Given the description of an element on the screen output the (x, y) to click on. 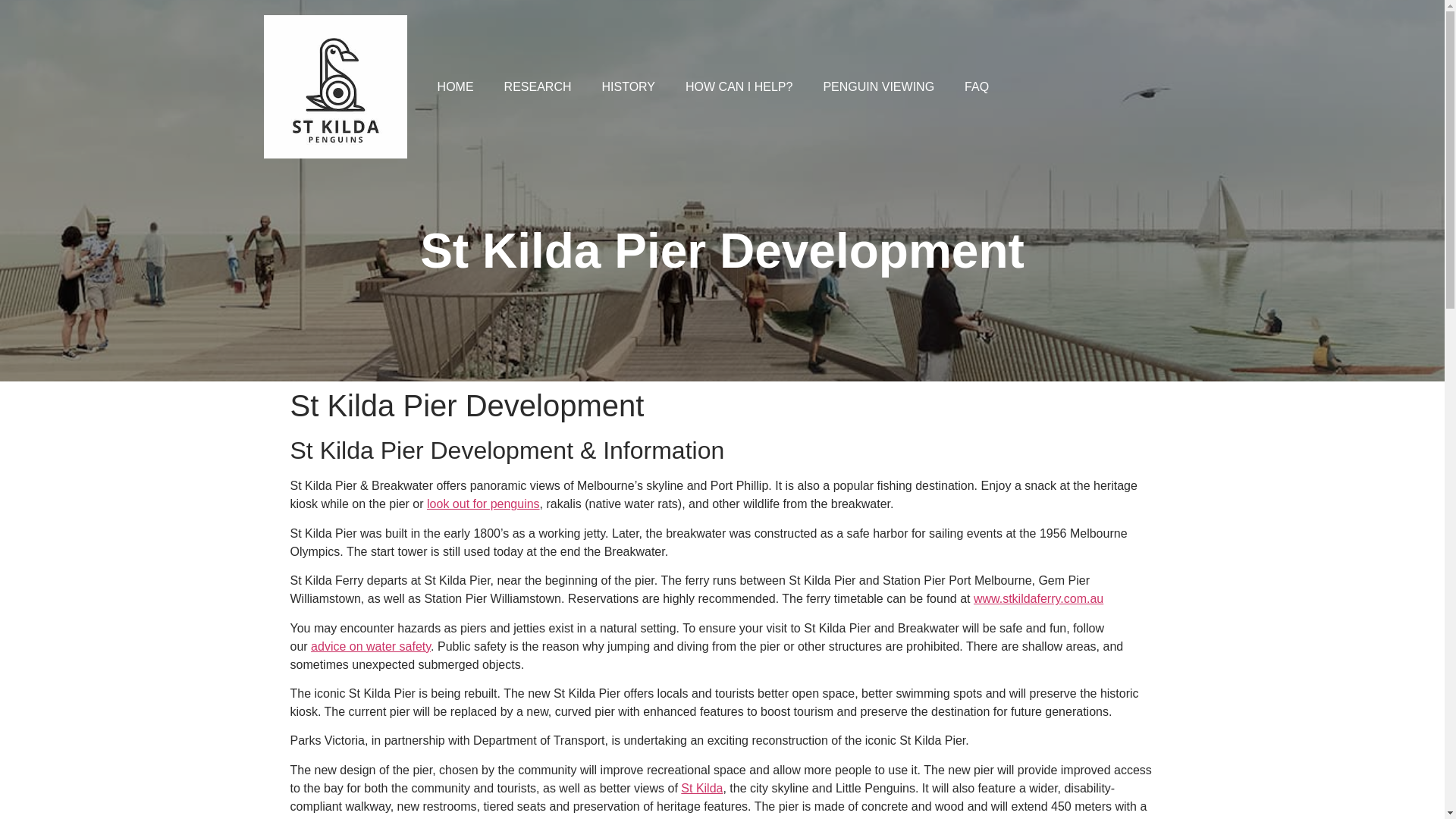
look out for penguins (483, 503)
www.stkildaferry.com.au (1038, 598)
St Kilda (701, 788)
HOW CAN I HELP? (738, 86)
FAQ (976, 86)
HOME (455, 86)
RESEARCH (537, 86)
PENGUIN VIEWING (878, 86)
advice on water safety (370, 645)
HISTORY (628, 86)
